Given the description of an element on the screen output the (x, y) to click on. 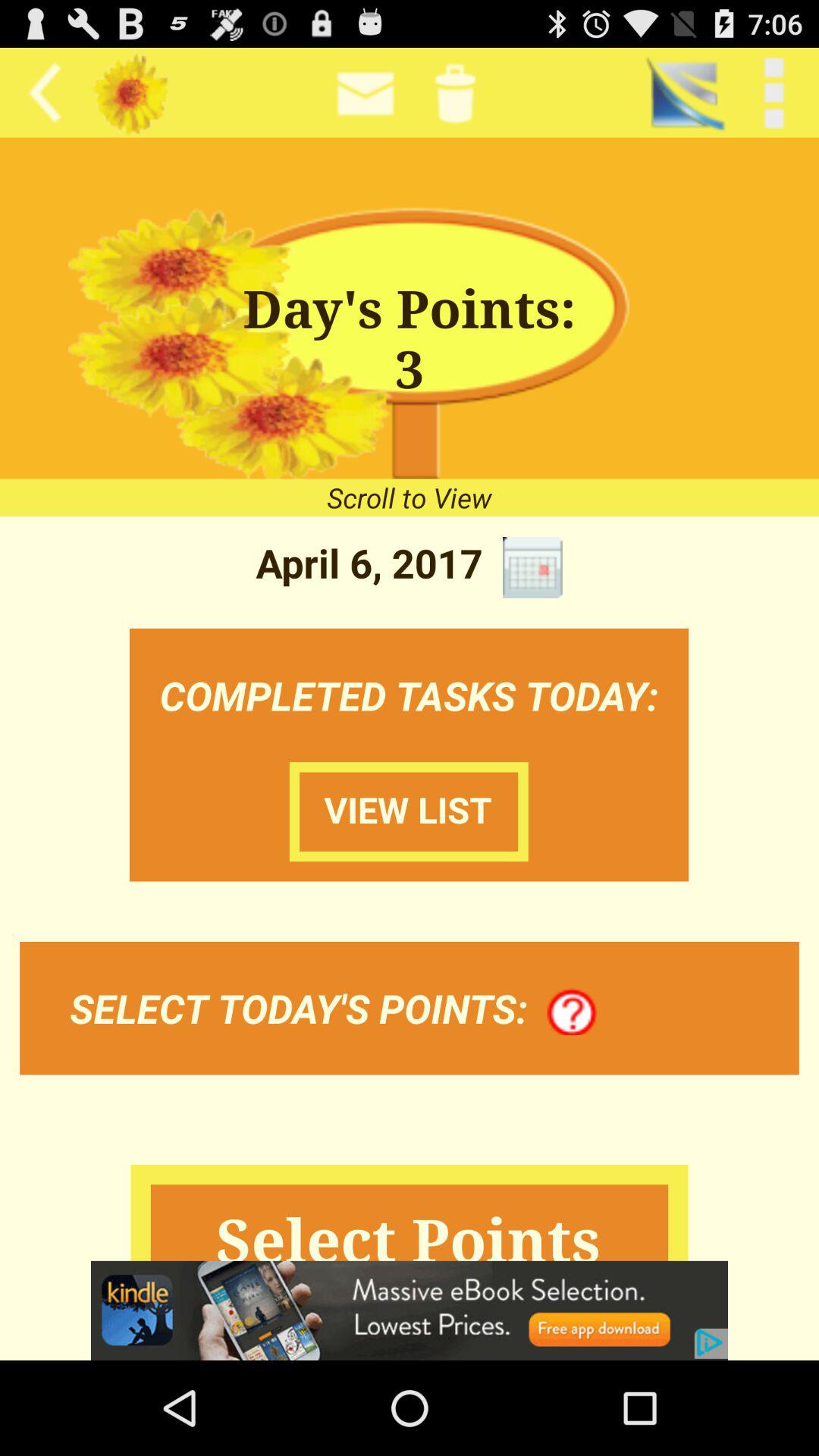
choose item next to the select today s (572, 1012)
